Given the description of an element on the screen output the (x, y) to click on. 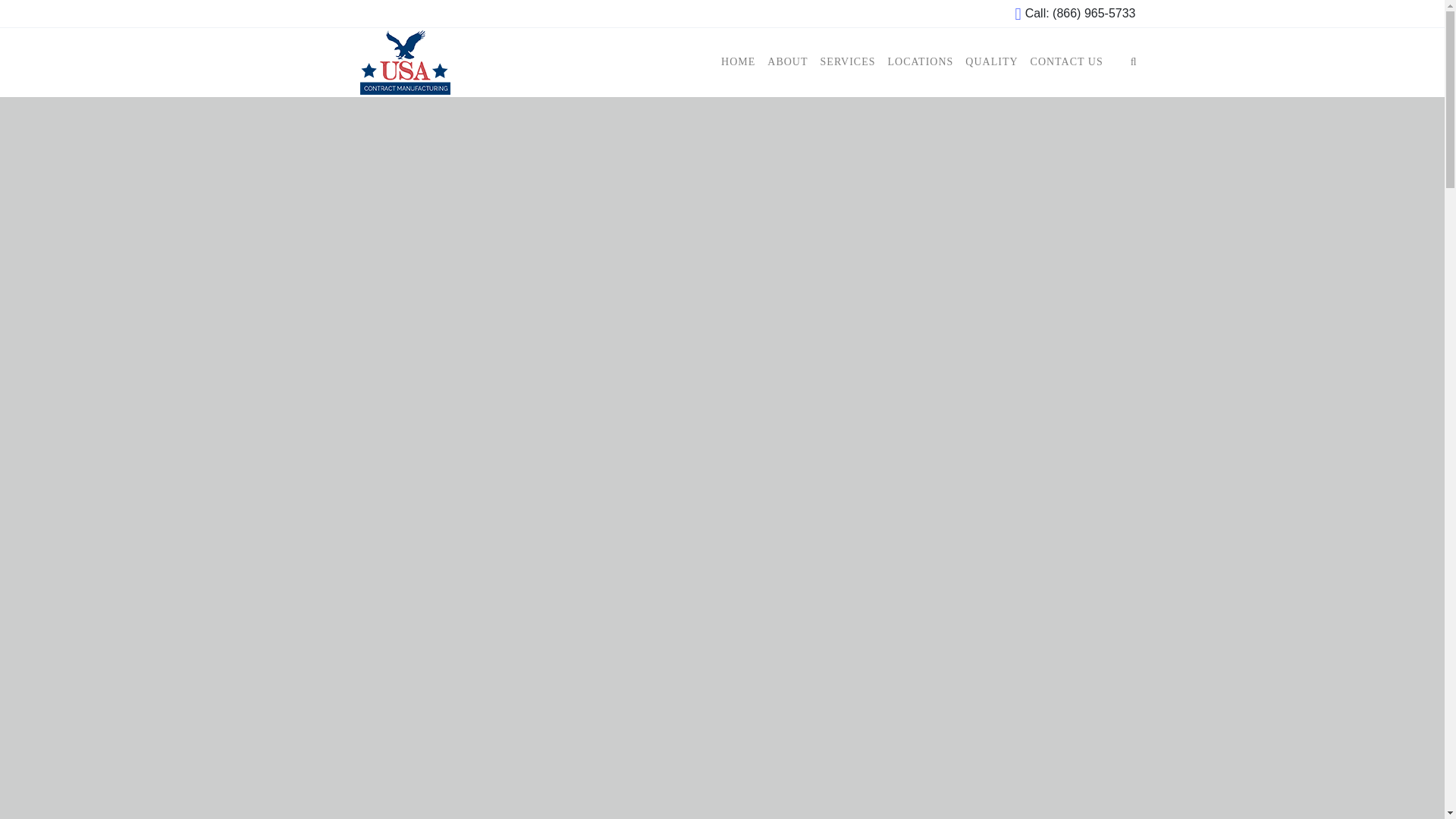
CONTACT US (1067, 61)
LOCATIONS (920, 61)
Locations (920, 61)
Quality (991, 61)
QUALITY (991, 61)
Services (847, 61)
SERVICES (847, 61)
Contact Us (1067, 61)
